Given the description of an element on the screen output the (x, y) to click on. 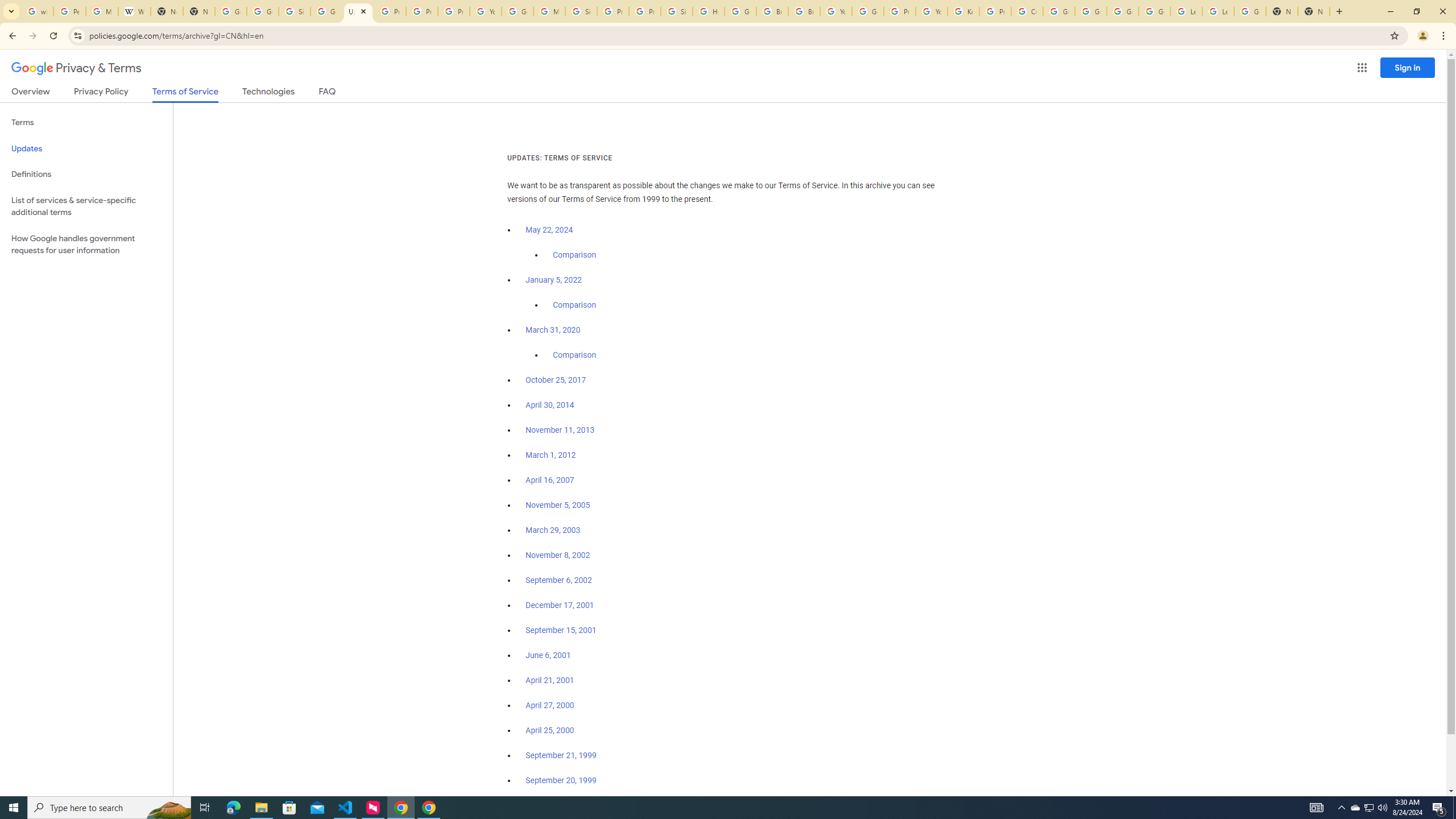
How Google handles government requests for user information (86, 244)
November 8, 2002 (557, 555)
Personalization & Google Search results - Google Search Help (69, 11)
Google Account (1249, 11)
Google Account Help (1091, 11)
April 25, 2000 (550, 729)
